Given the description of an element on the screen output the (x, y) to click on. 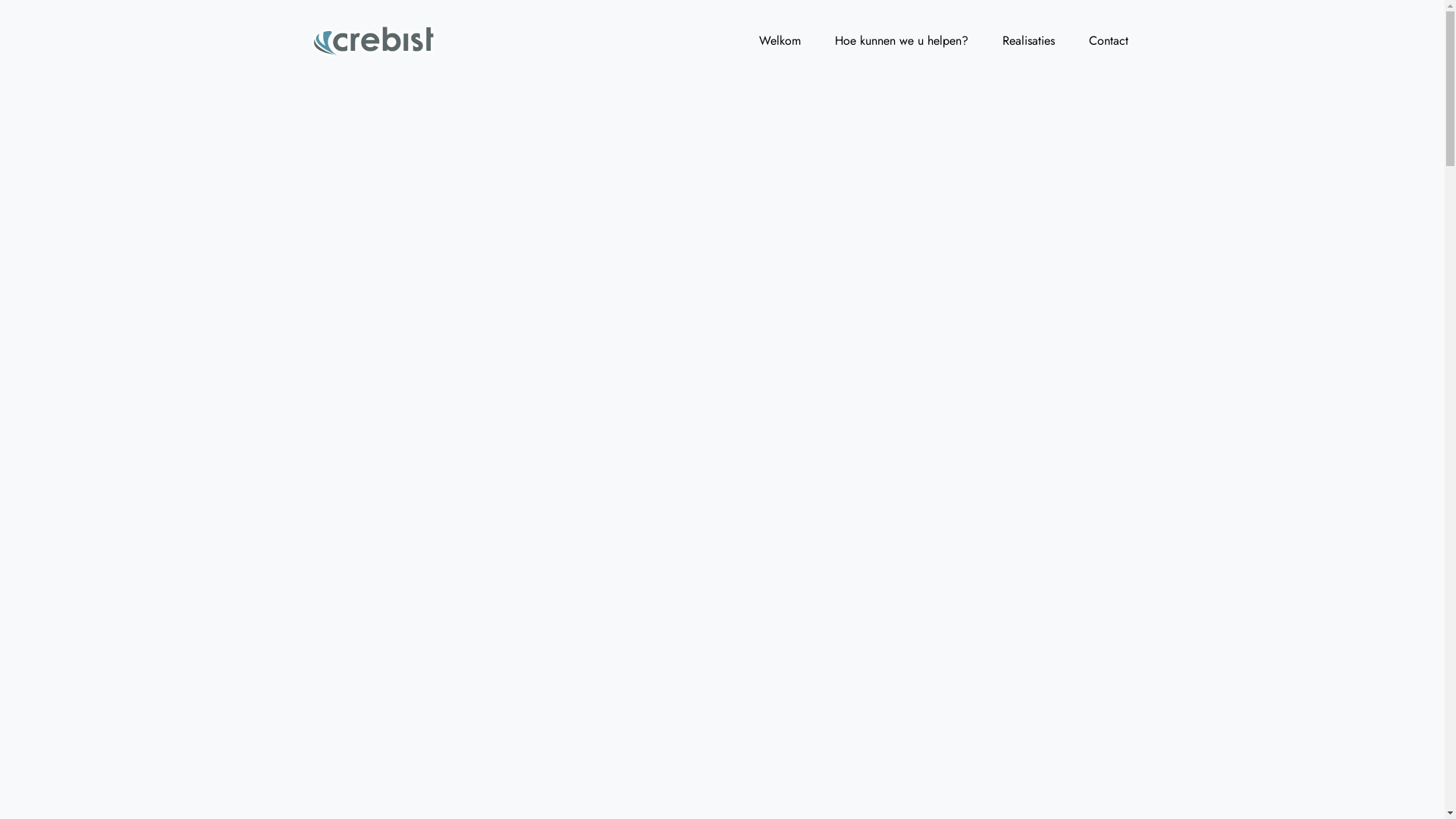
Realisaties Element type: text (1028, 40)
Hoe kunnen we u helpen? Element type: text (900, 40)
Contact Element type: text (1108, 40)
Welkom Element type: text (779, 40)
